Given the description of an element on the screen output the (x, y) to click on. 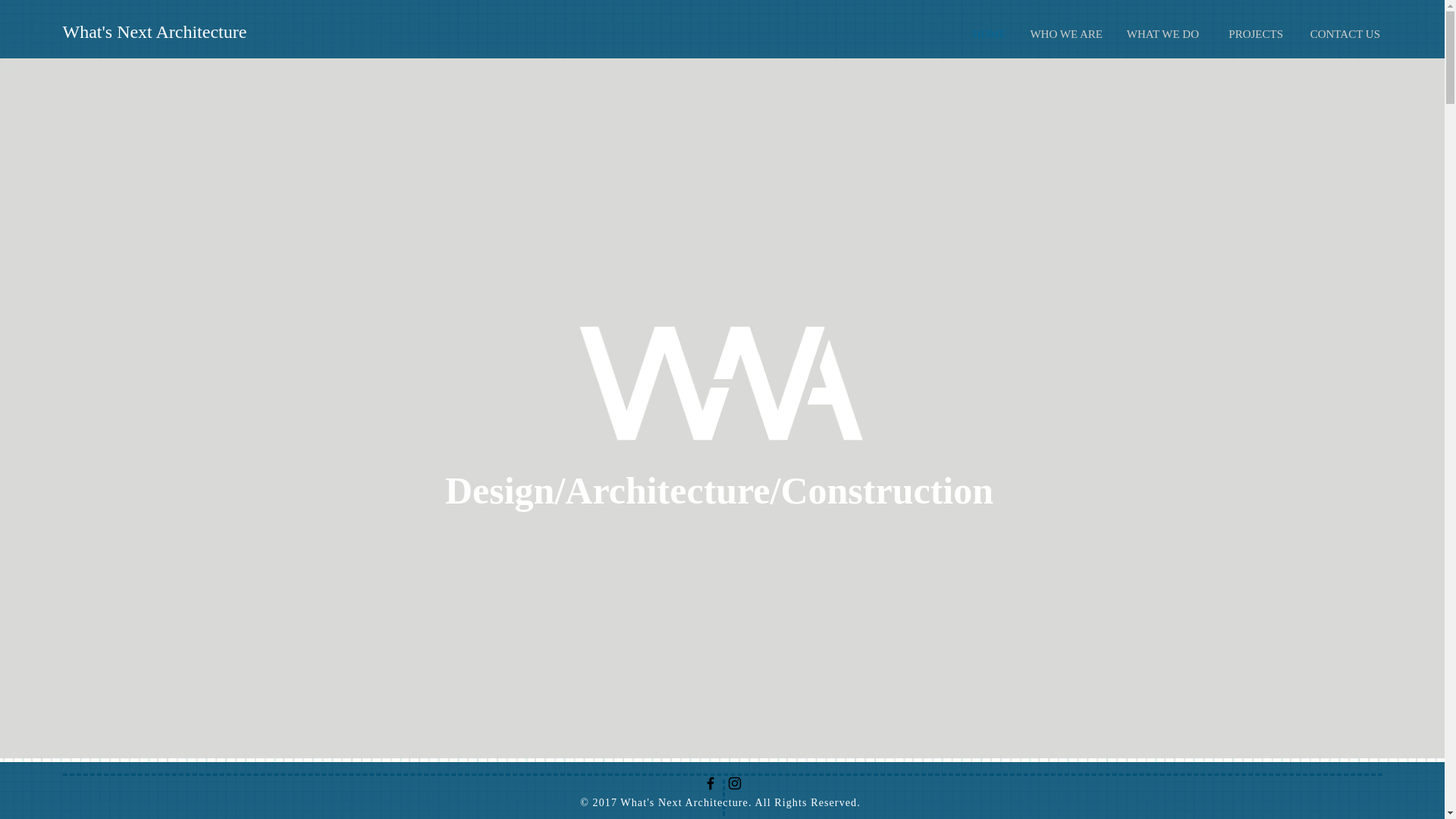
What's Next Architecture (154, 31)
WHO WE ARE (1065, 34)
PROJECTS (1251, 34)
CONTACT US (1342, 34)
HOME (988, 34)
WHAT WE DO (1161, 34)
